Given the description of an element on the screen output the (x, y) to click on. 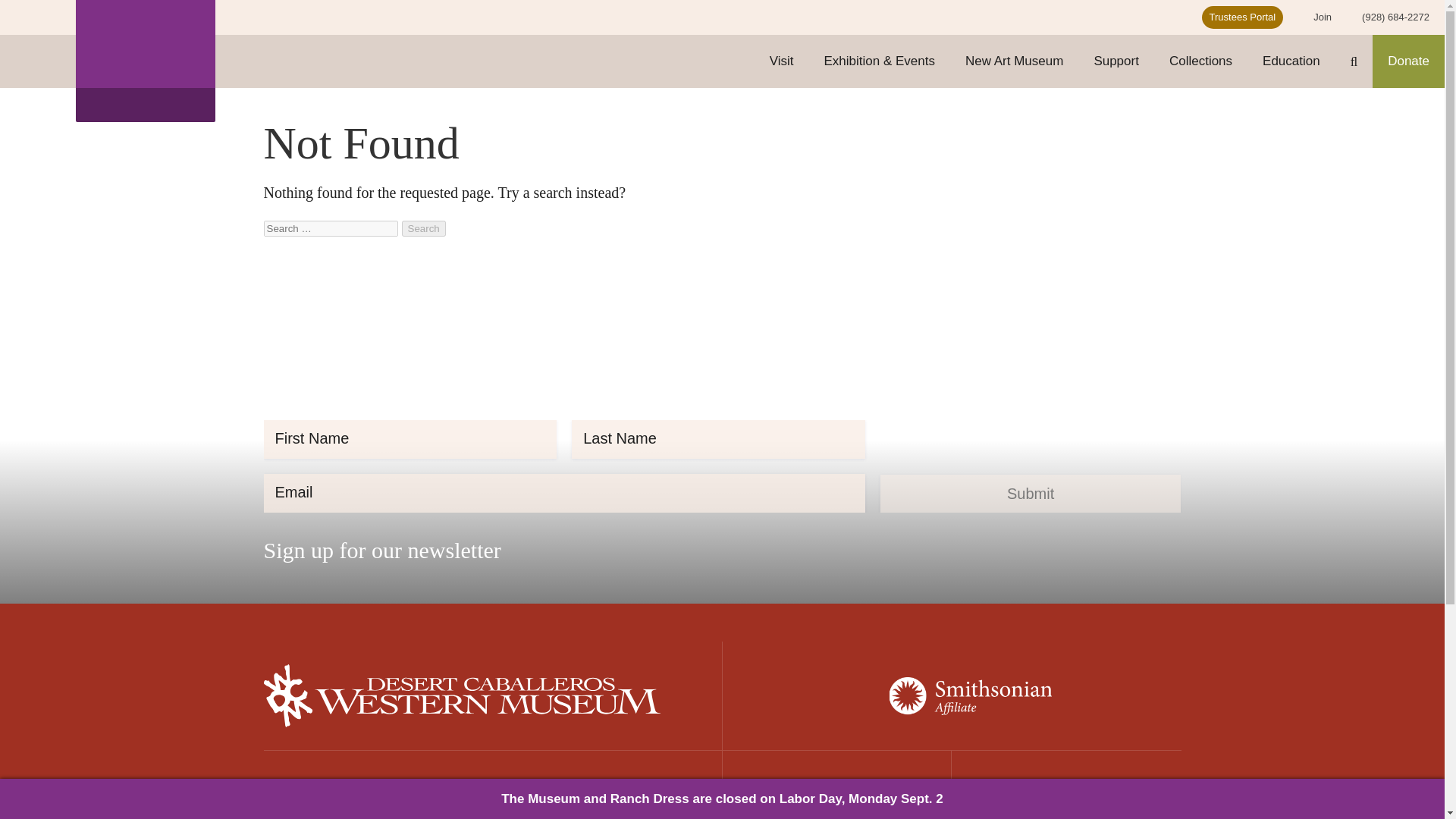
Support (1116, 61)
Trustees Portal (1242, 17)
Collections (1200, 61)
Join (1322, 17)
Education (1291, 61)
Search (423, 228)
Search (423, 228)
Submit (1030, 493)
New Art Museum (1014, 61)
Visit (781, 61)
